Given the description of an element on the screen output the (x, y) to click on. 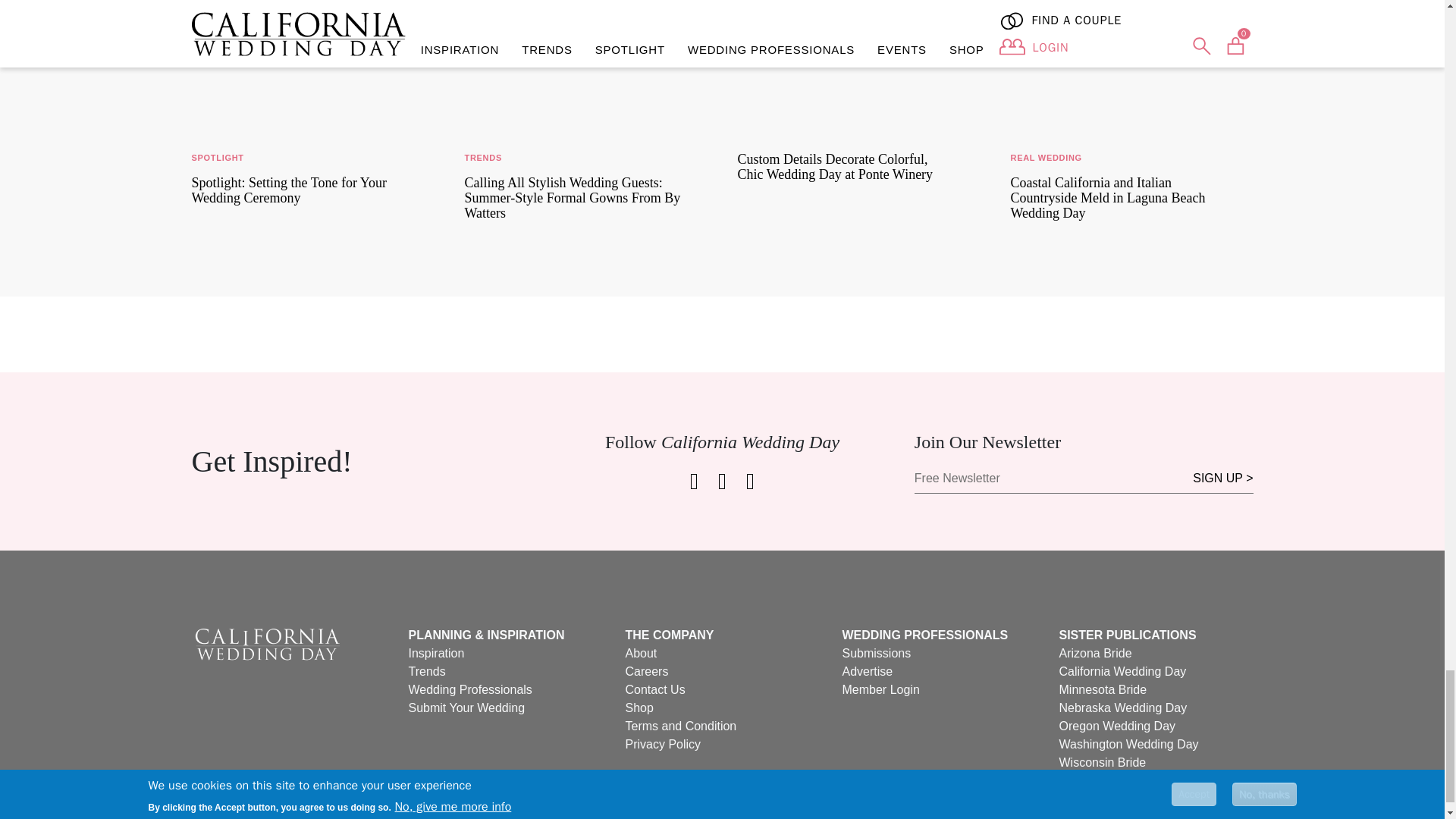
Courtesy of Xoxo Weddings (311, 64)
Summer Wedding Guest Dresses from By Watters (585, 64)
